Given the description of an element on the screen output the (x, y) to click on. 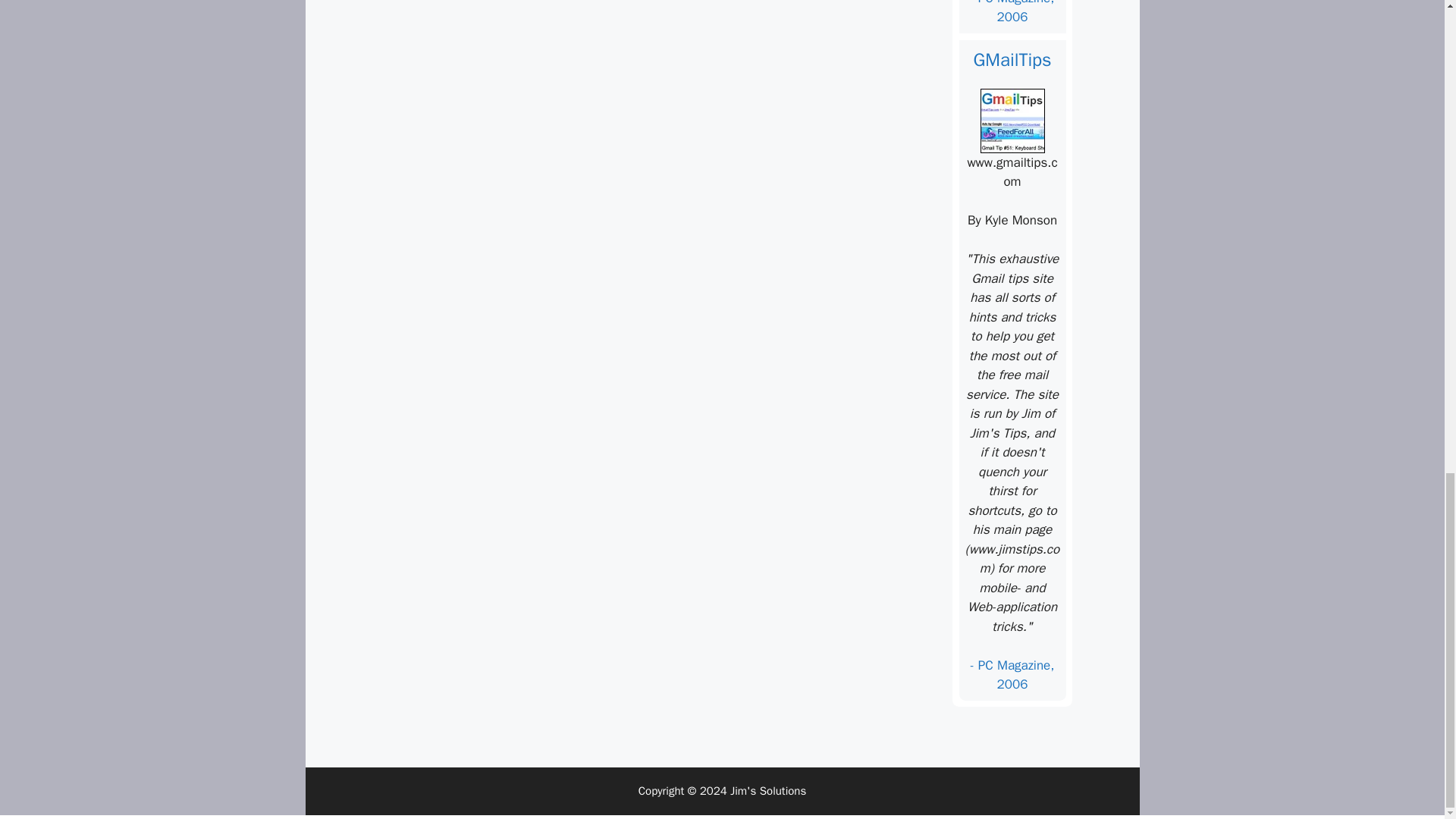
Jim's Solutions (768, 790)
wayback-gmailtips.com (1011, 119)
Scroll back to top (1406, 408)
